Given the description of an element on the screen output the (x, y) to click on. 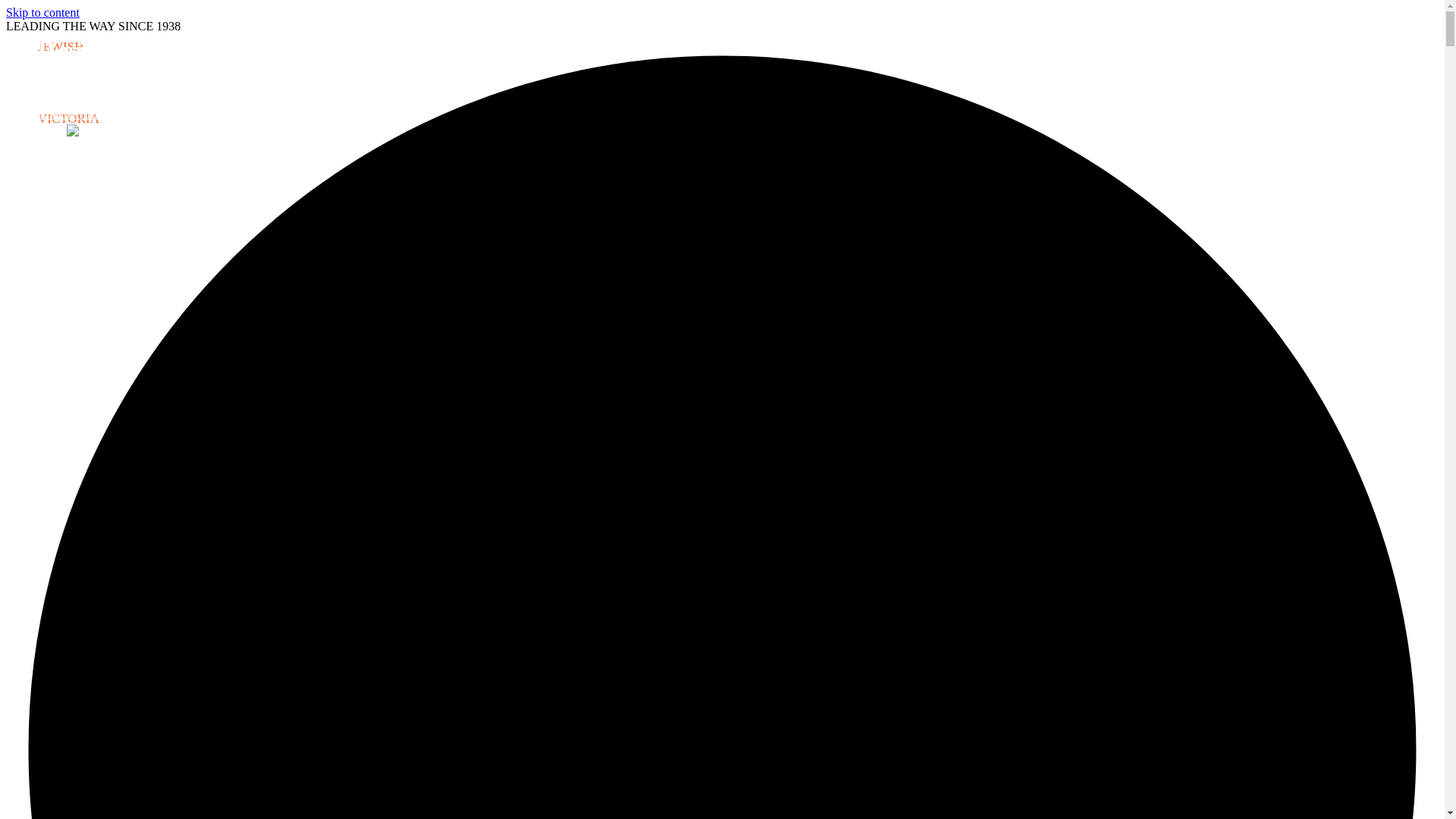
Skip to content Element type: text (42, 12)
